Given the description of an element on the screen output the (x, y) to click on. 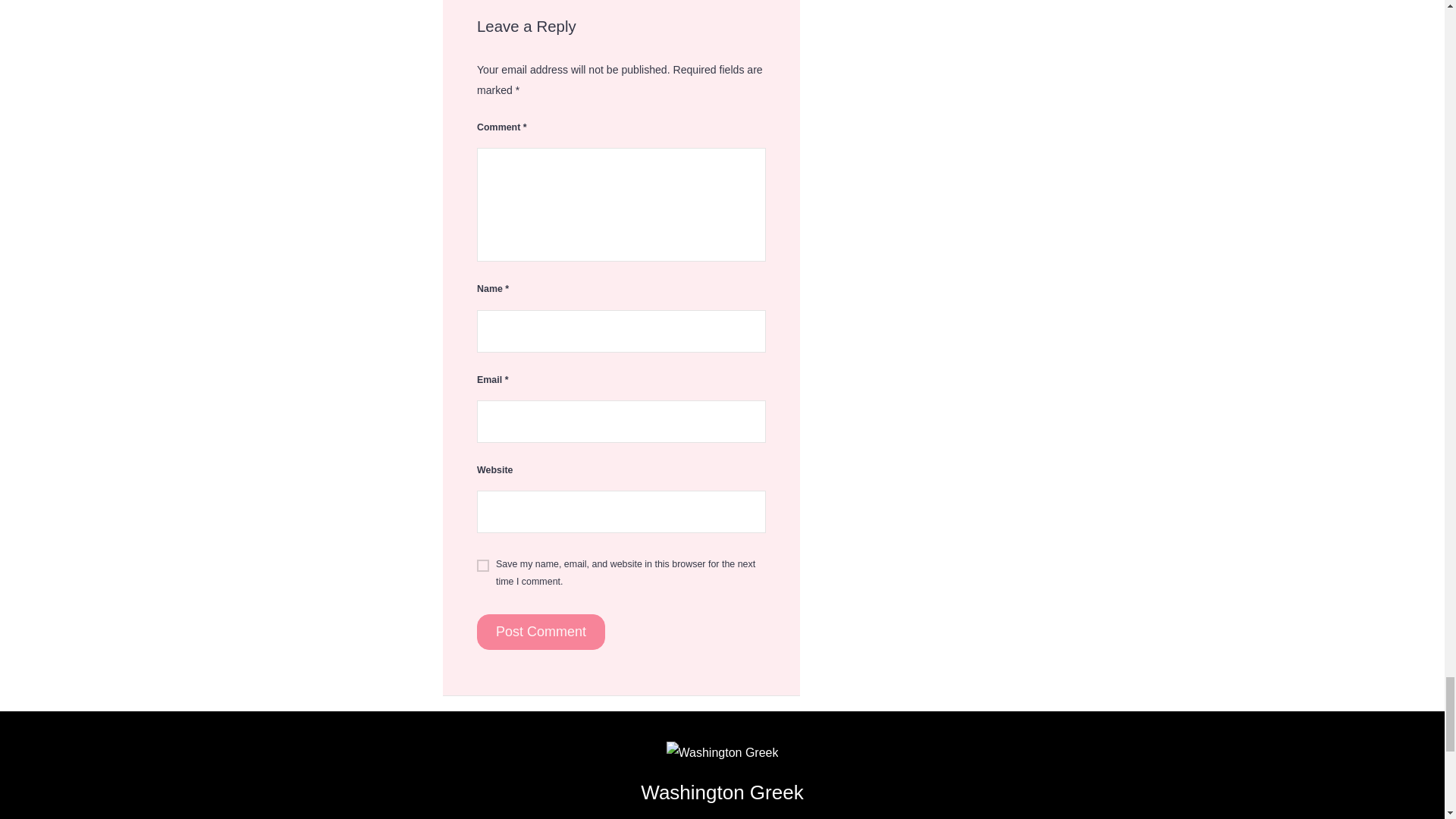
Post Comment (541, 632)
